Given the description of an element on the screen output the (x, y) to click on. 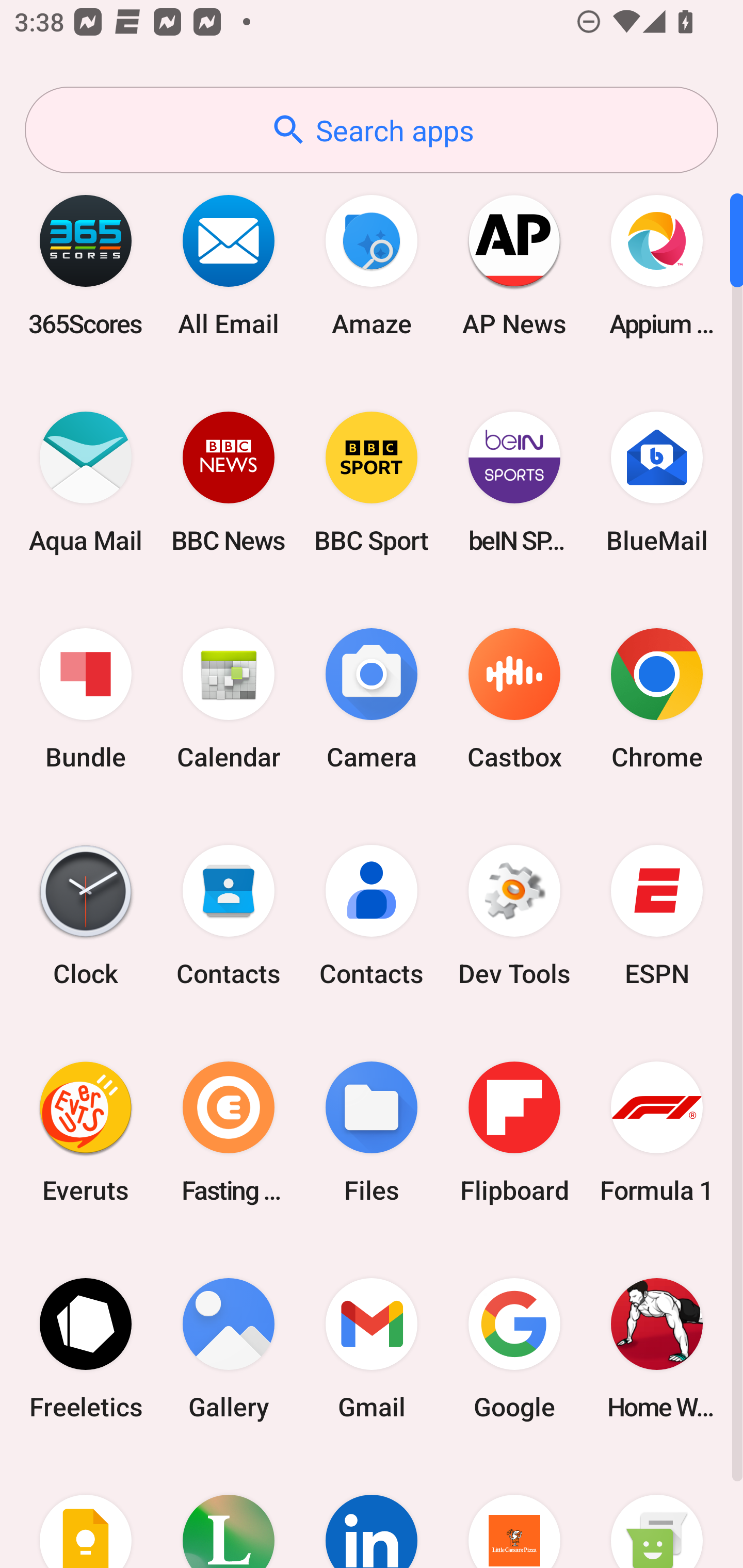
  Search apps (371, 130)
365Scores (85, 264)
All Email (228, 264)
Amaze (371, 264)
AP News (514, 264)
Appium Settings (656, 264)
Aqua Mail (85, 482)
BBC News (228, 482)
BBC Sport (371, 482)
beIN SPORTS (514, 482)
BlueMail (656, 482)
Bundle (85, 699)
Calendar (228, 699)
Camera (371, 699)
Castbox (514, 699)
Chrome (656, 699)
Clock (85, 915)
Contacts (228, 915)
Contacts (371, 915)
Dev Tools (514, 915)
ESPN (656, 915)
Everuts (85, 1131)
Fasting Coach (228, 1131)
Files (371, 1131)
Flipboard (514, 1131)
Formula 1 (656, 1131)
Freeletics (85, 1348)
Gallery (228, 1348)
Gmail (371, 1348)
Google (514, 1348)
Home Workout (656, 1348)
Keep Notes (85, 1512)
Lifesum (228, 1512)
LinkedIn (371, 1512)
Little Caesars Pizza (514, 1512)
Messaging (656, 1512)
